Given the description of an element on the screen output the (x, y) to click on. 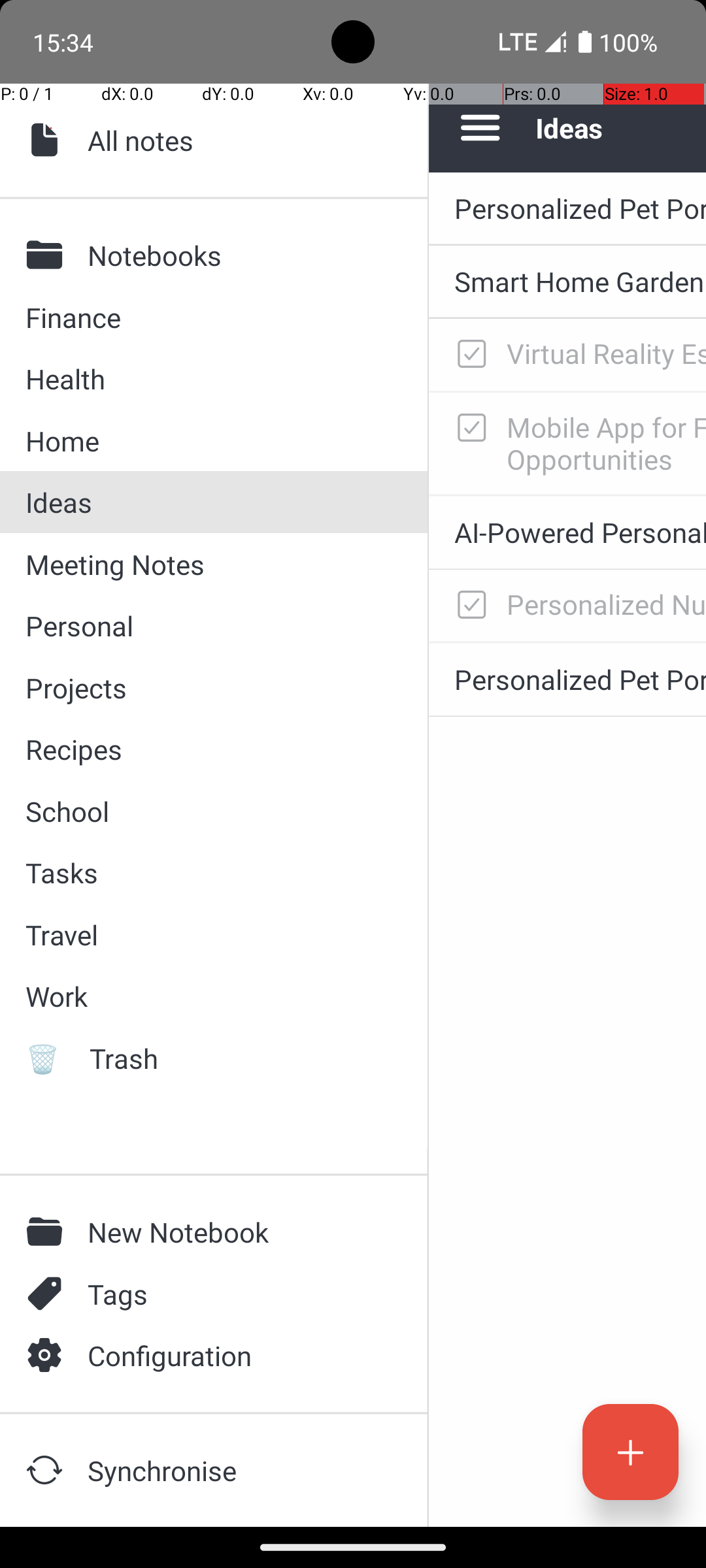
 Element type: android.widget.TextView (47, 254)
Notebooks Element type: android.widget.TextView (235, 254)
 Element type: android.widget.TextView (47, 1231)
New Notebook Element type: android.widget.TextView (235, 1231)
 Element type: android.widget.TextView (47, 1293)
 Element type: android.widget.TextView (47, 1354)
Configuration Element type: android.widget.TextView (235, 1354)
 Element type: android.widget.TextView (47, 1469)
Synchronise Element type: android.widget.TextView (235, 1469)
Personalized Pet Portraits Element type: android.widget.TextView (580, 207)
Smart Home Gardening System Element type: android.widget.TextView (580, 280)
to-do: Virtual Reality Escape Room Element type: android.widget.CheckBox (467, 354)
Virtual Reality Escape Room Element type: android.widget.TextView (606, 352)
to-do: Mobile App for Finding Local Volunteer Opportunities Element type: android.widget.CheckBox (467, 428)
Mobile App for Finding Local Volunteer Opportunities Element type: android.widget.TextView (606, 442)
AI-Powered Personalized Travel Itinerary Generator Element type: android.widget.TextView (580, 531)
to-do: Personalized Nutrition Coaching App Element type: android.widget.CheckBox (467, 605)
Personalized Nutrition Coaching App Element type: android.widget.TextView (606, 603)
 Element type: android.widget.TextView (47, 139)
🗑️ Element type: android.widget.TextView (48, 1057)
